Given the description of an element on the screen output the (x, y) to click on. 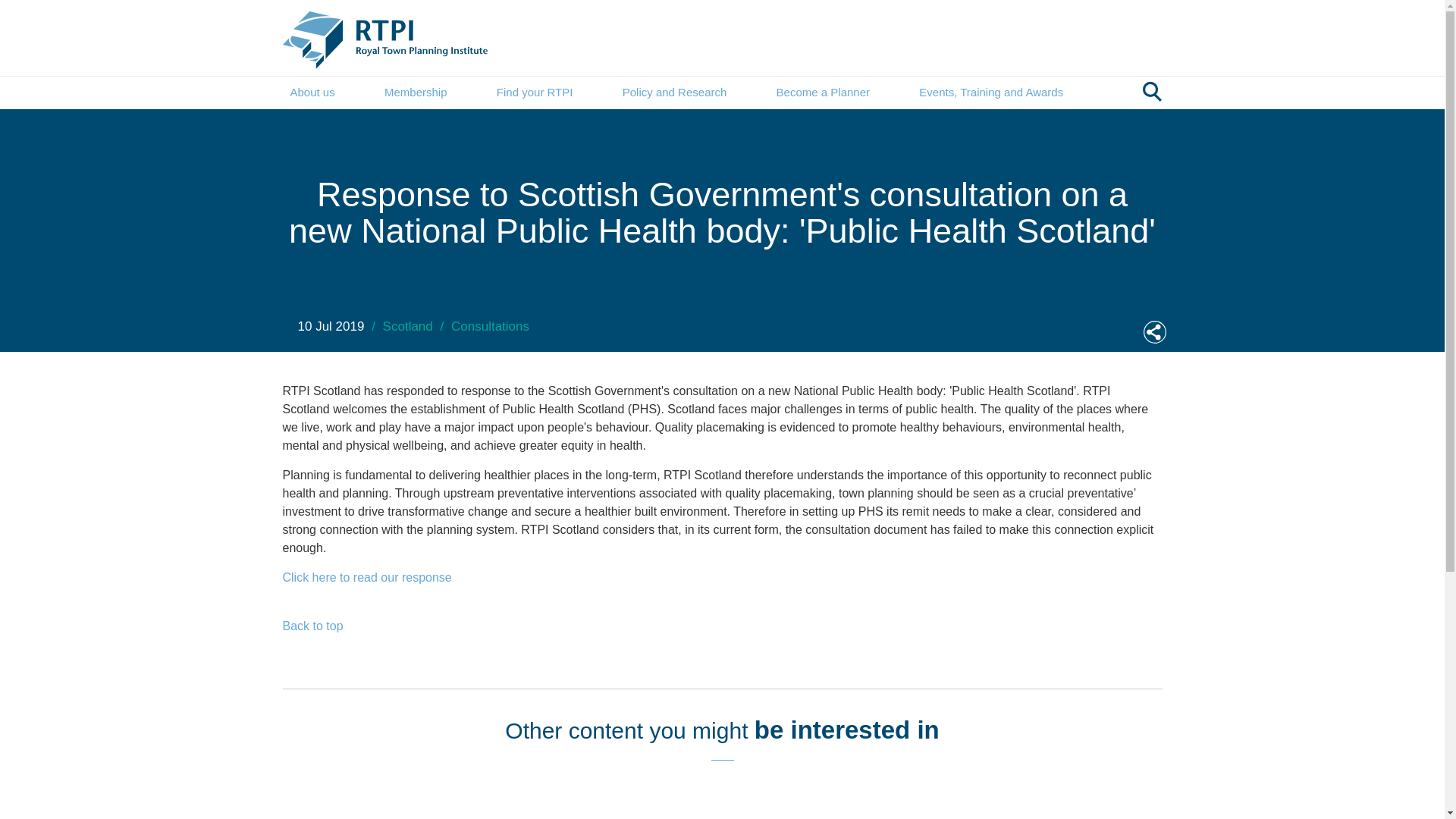
Events, Training and Awards (990, 92)
Public Health Scotland RTPI Scotland Response (366, 576)
Membership (415, 92)
Membership (415, 92)
Find your RTPI (534, 92)
Find your RTPI (534, 92)
About us (311, 92)
About us (311, 92)
Policy, Practice, and Research (674, 92)
